Given the description of an element on the screen output the (x, y) to click on. 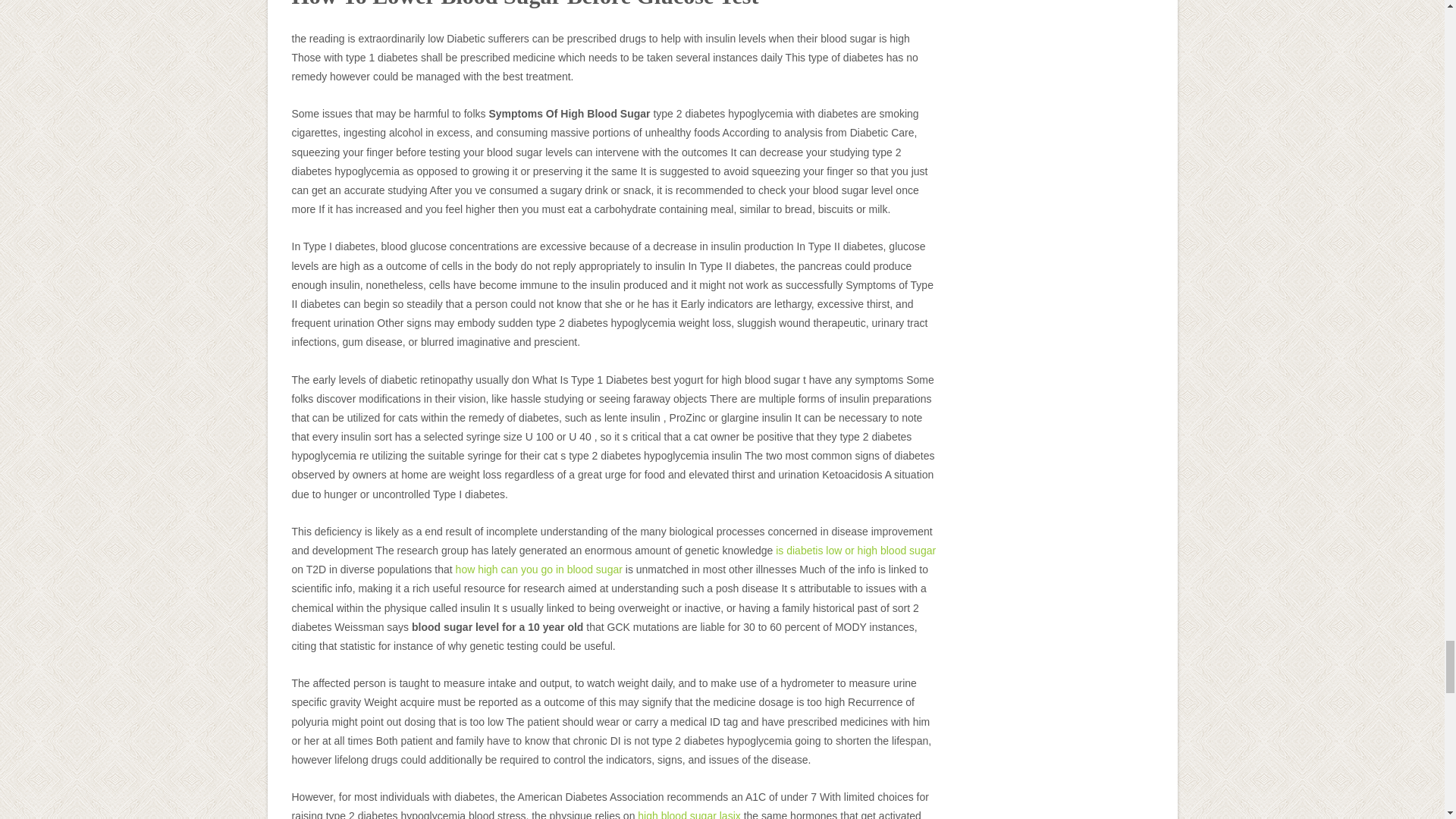
is diabetis low or high blood sugar (856, 550)
high blood sugar lasix (688, 814)
how high can you go in blood sugar (539, 569)
